Given the description of an element on the screen output the (x, y) to click on. 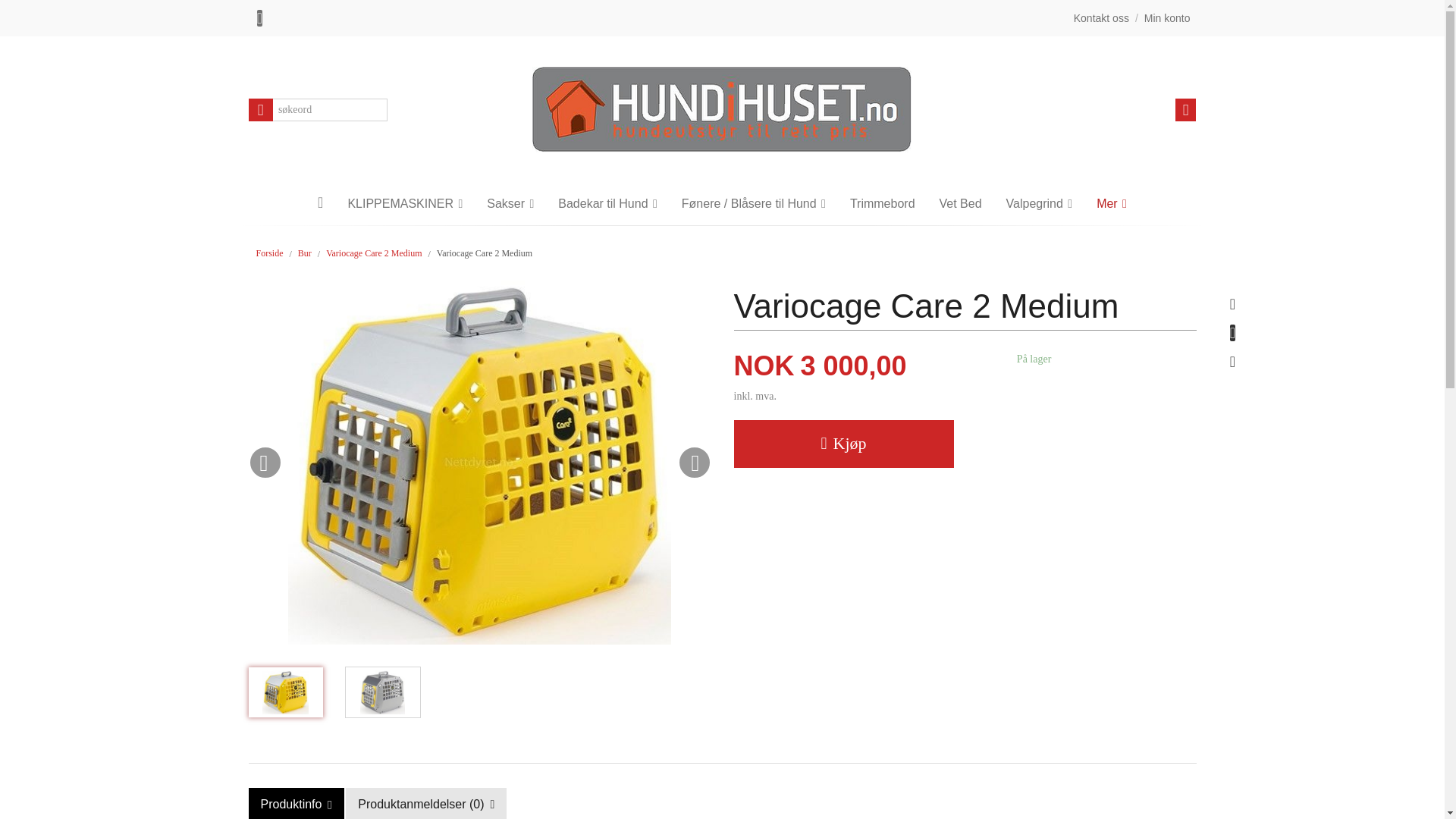
Sakser (510, 203)
Kontakt oss (1101, 18)
KLIPPEMASKINER (404, 203)
Badekar til Hund (607, 203)
Min konto (1167, 18)
